Given the description of an element on the screen output the (x, y) to click on. 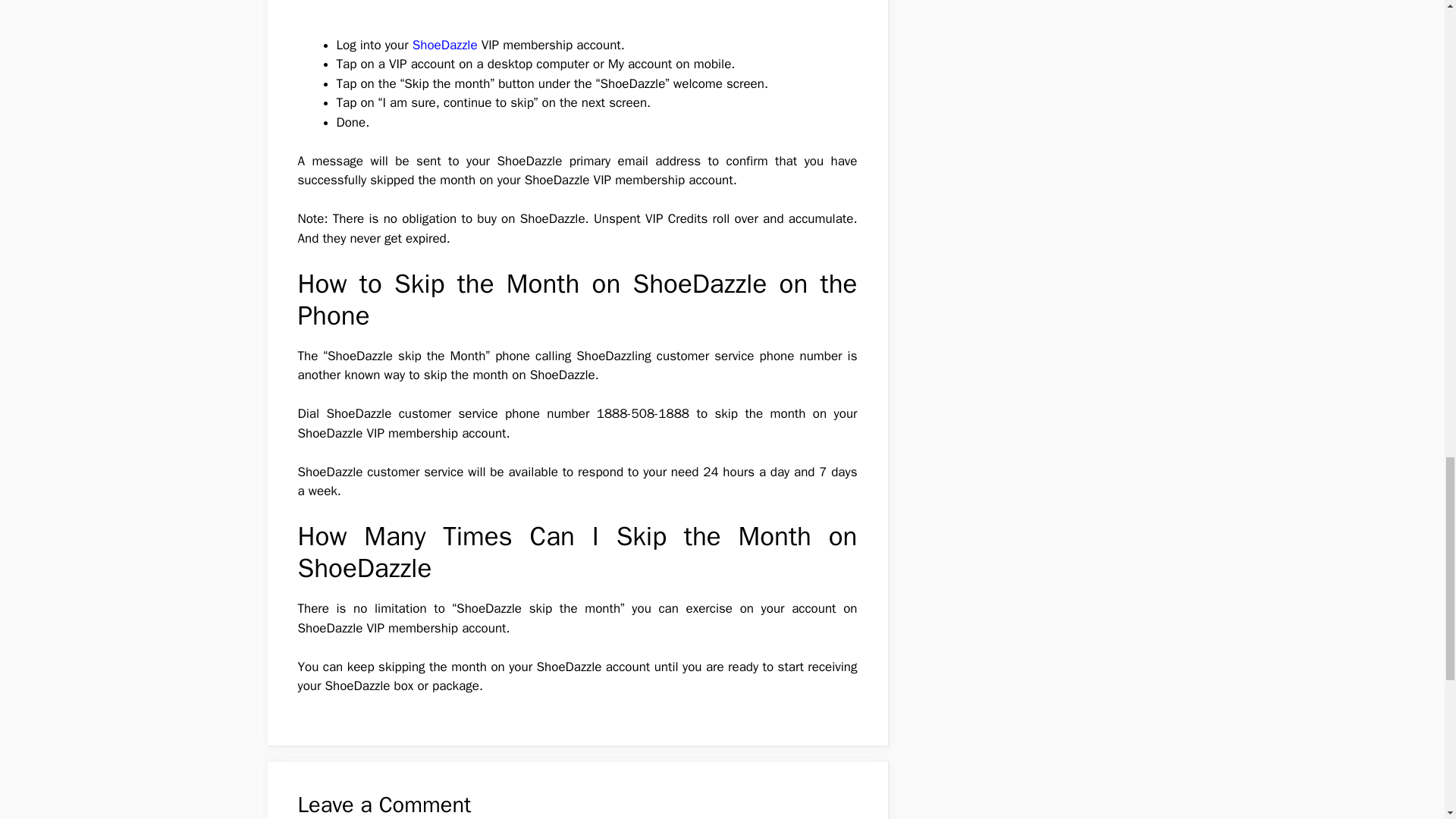
ShoeDazzle (444, 44)
